Given the description of an element on the screen output the (x, y) to click on. 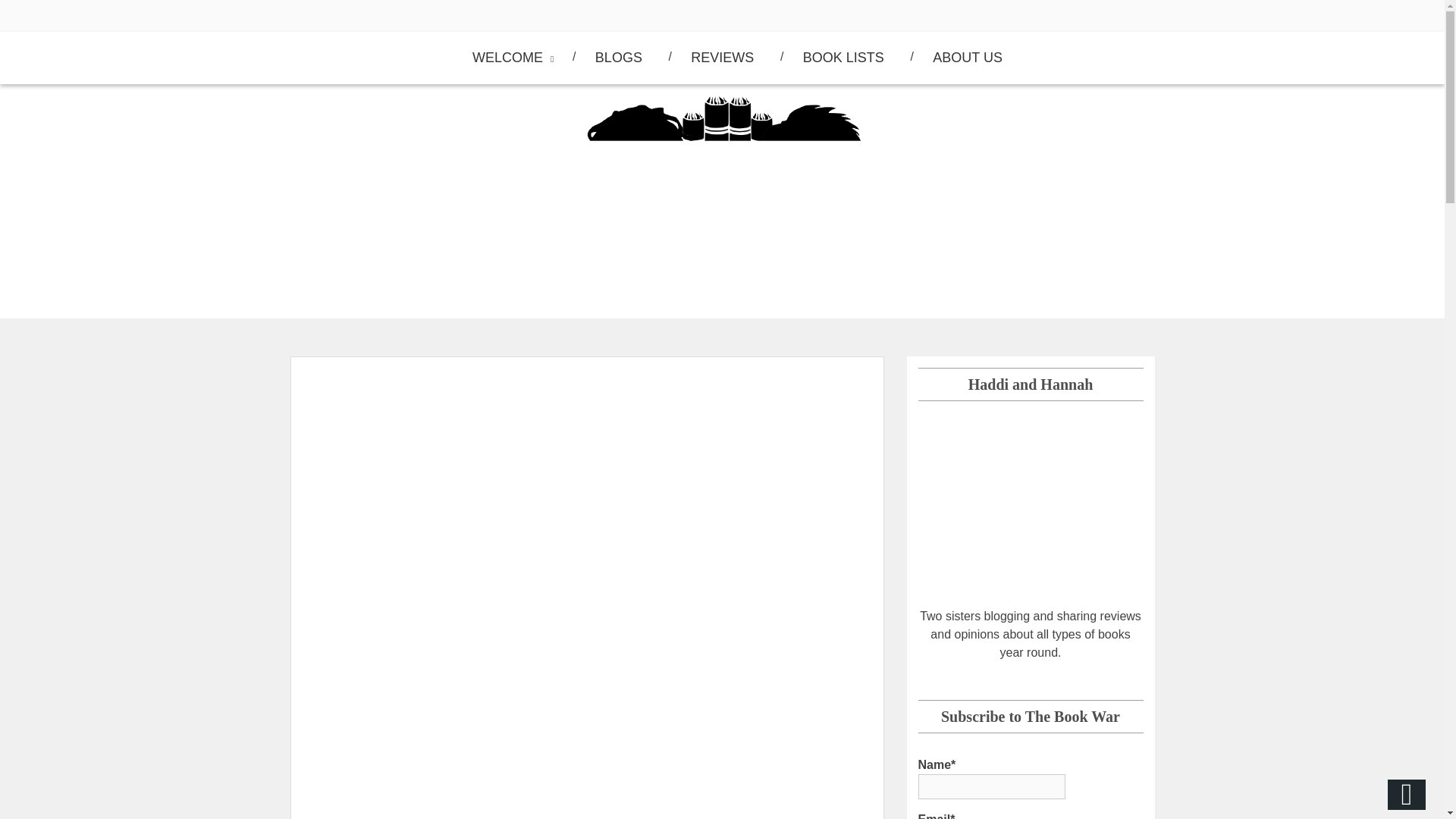
REVIEWS (722, 57)
search (26, 11)
WELCOME (508, 57)
BLOGS (618, 57)
BOOK LISTS (843, 57)
ABOUT US (968, 57)
